Given the description of an element on the screen output the (x, y) to click on. 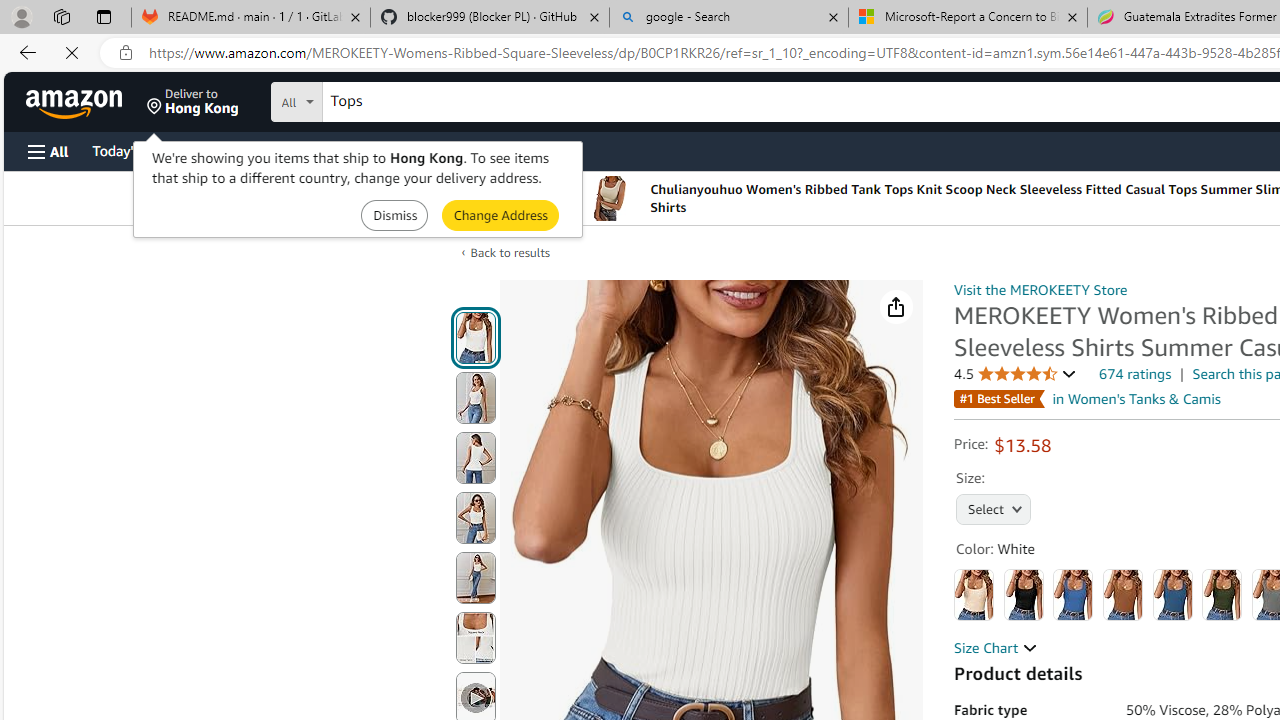
Registry (360, 150)
Open Menu (48, 151)
Today's Deals (134, 150)
Visit the MEROKEETY Store (1040, 289)
Beige (974, 594)
Blue (1073, 594)
Back to results (509, 251)
